Given the description of an element on the screen output the (x, y) to click on. 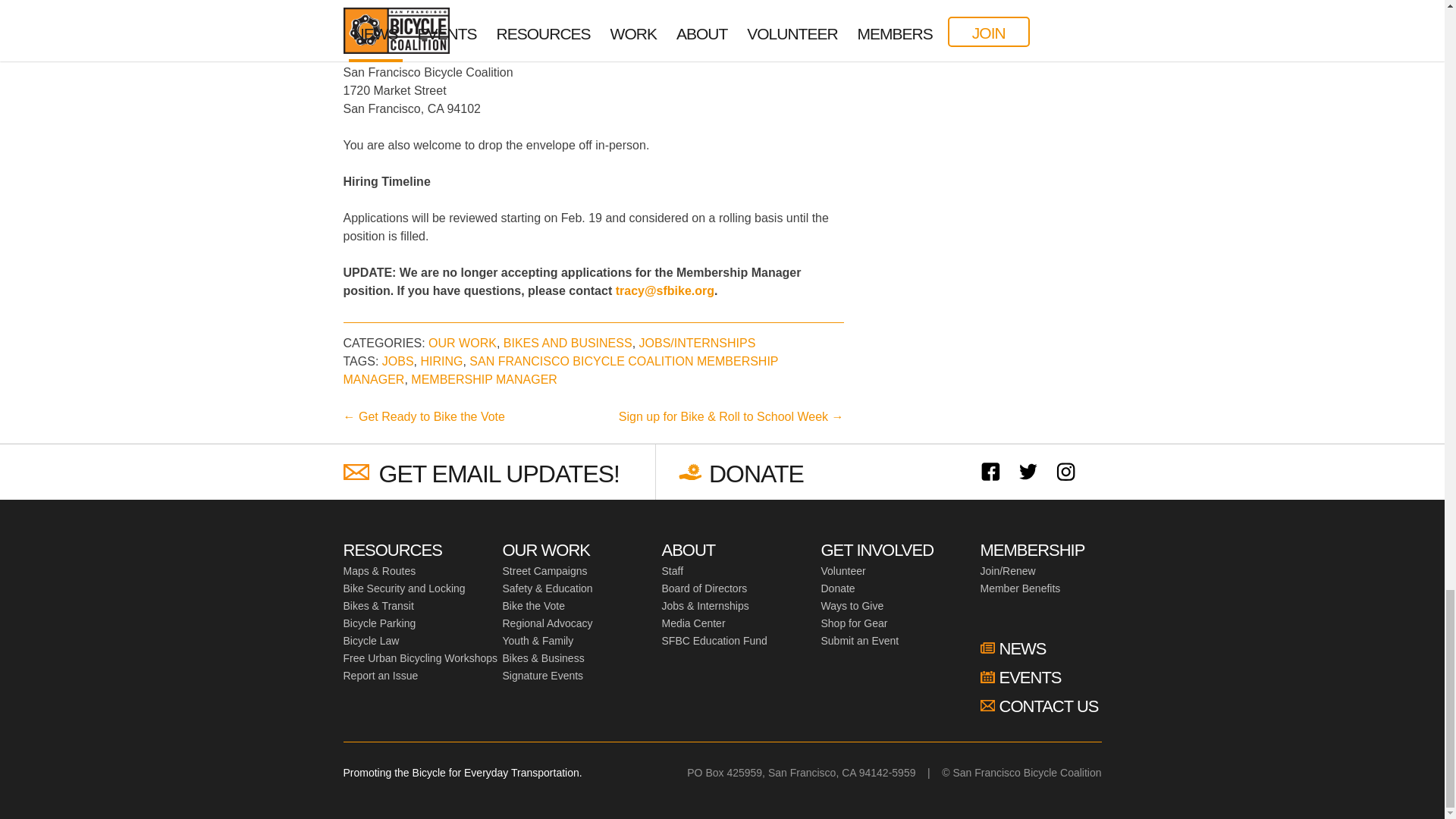
BIKES AND BUSINESS (567, 342)
JOBS (397, 360)
MEMBERSHIP MANAGER (483, 379)
HIRING (441, 360)
SAN FRANCISCO BICYCLE COALITION MEMBERSHIP MANAGER (559, 369)
OUR WORK (462, 342)
